Given the description of an element on the screen output the (x, y) to click on. 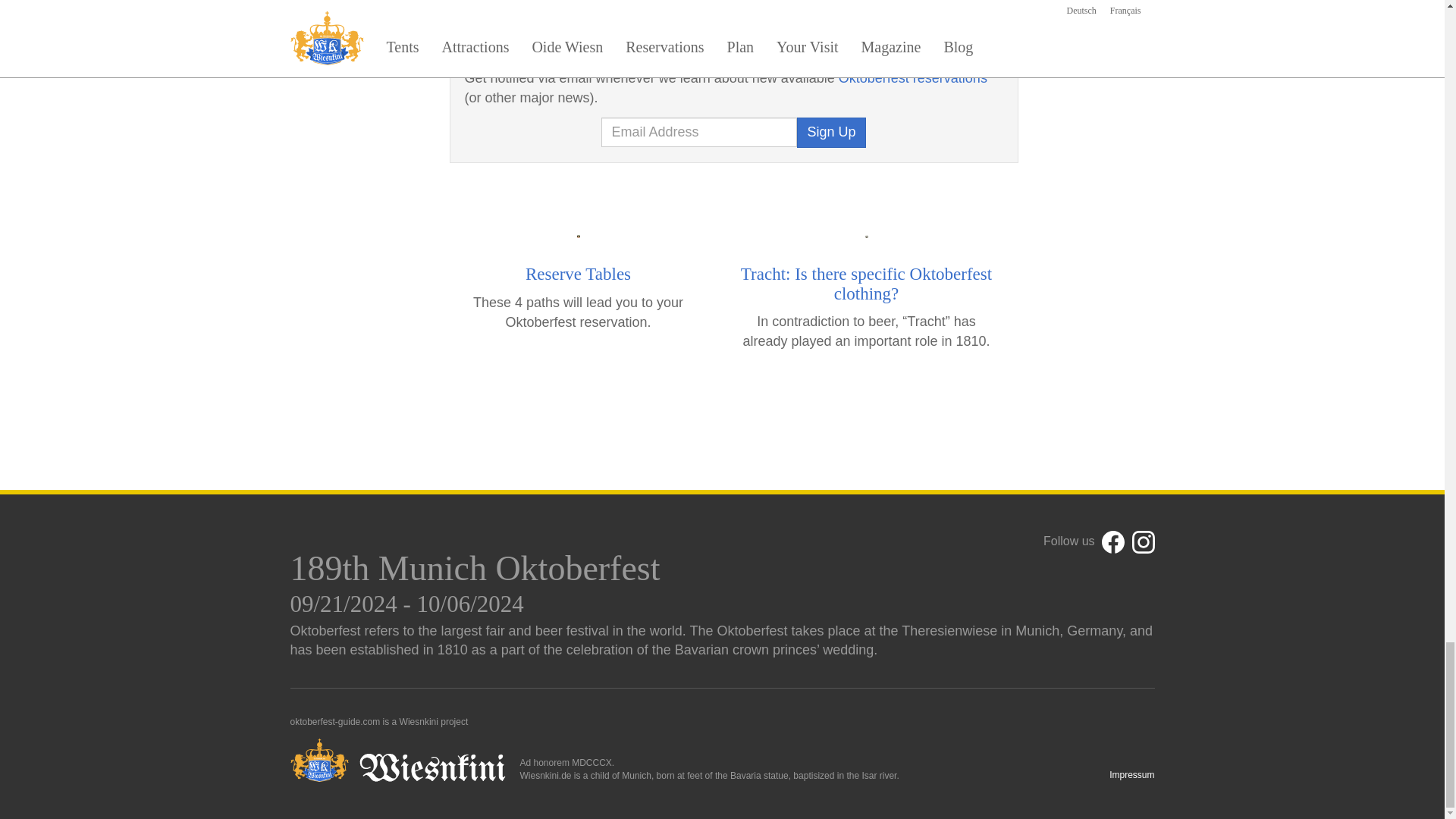
Impressum (1131, 774)
Oktoberfest reservations (912, 77)
Tracht: Is there specific Oktoberfest clothing? (866, 283)
Instagram (1142, 541)
Sign Up (830, 132)
Facebook (1113, 541)
Reserve Tables (577, 273)
